Given the description of an element on the screen output the (x, y) to click on. 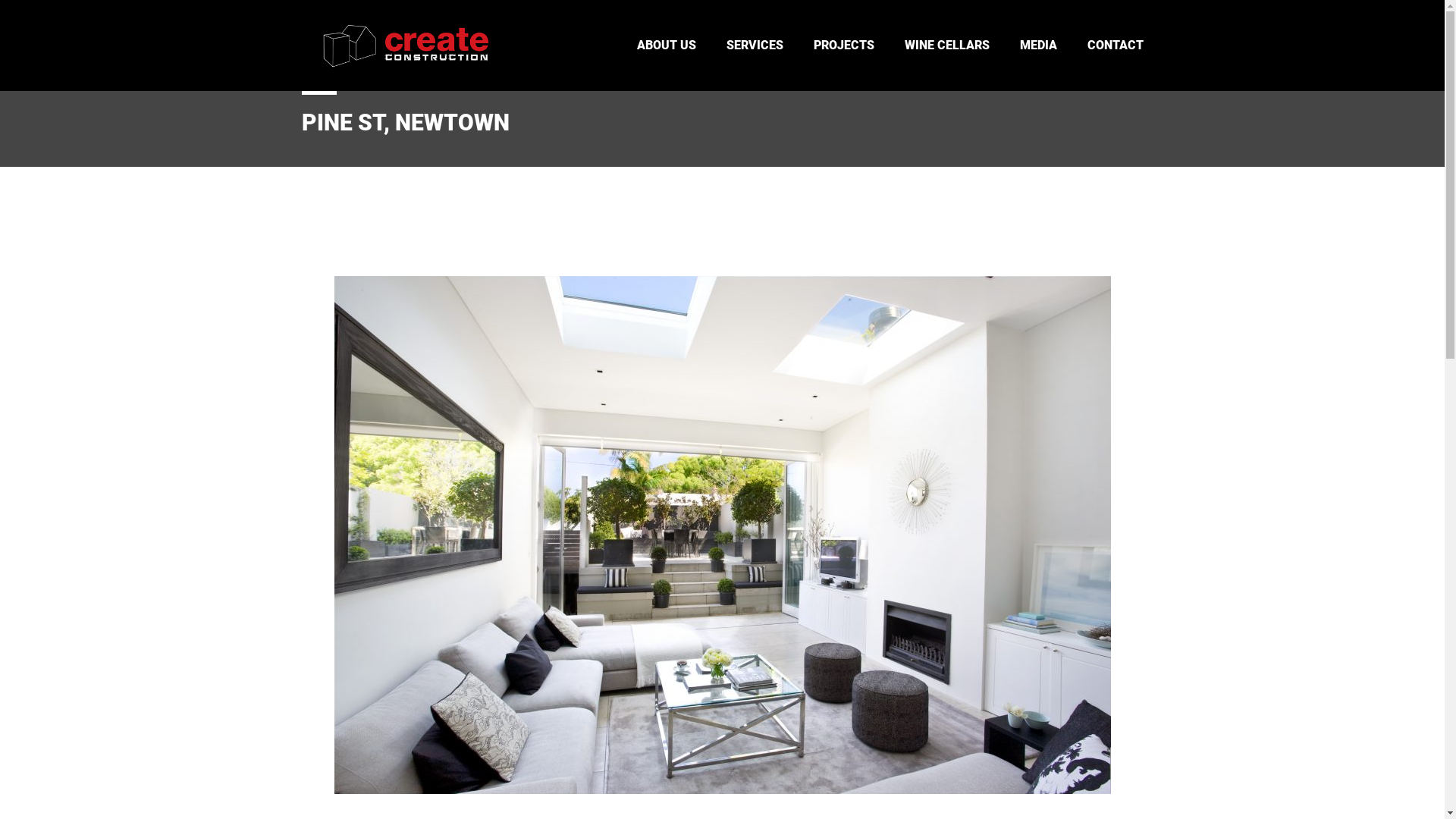
SERVICES Element type: text (624, 631)
WINE CELLARS Element type: text (635, 680)
SERVICES Element type: text (754, 45)
PROJECTS Element type: text (626, 656)
WINE CELLARS Element type: text (946, 45)
Info@createconstruction.com.au Element type: text (402, 662)
MEDIA Element type: text (616, 704)
PROJECTS Element type: text (842, 45)
MEDIA Element type: text (1037, 45)
ABOUT US Element type: text (625, 607)
CONTACT Element type: text (1115, 45)
ABOUT US Element type: text (666, 45)
CONTACT Element type: text (624, 728)
